Given the description of an element on the screen output the (x, y) to click on. 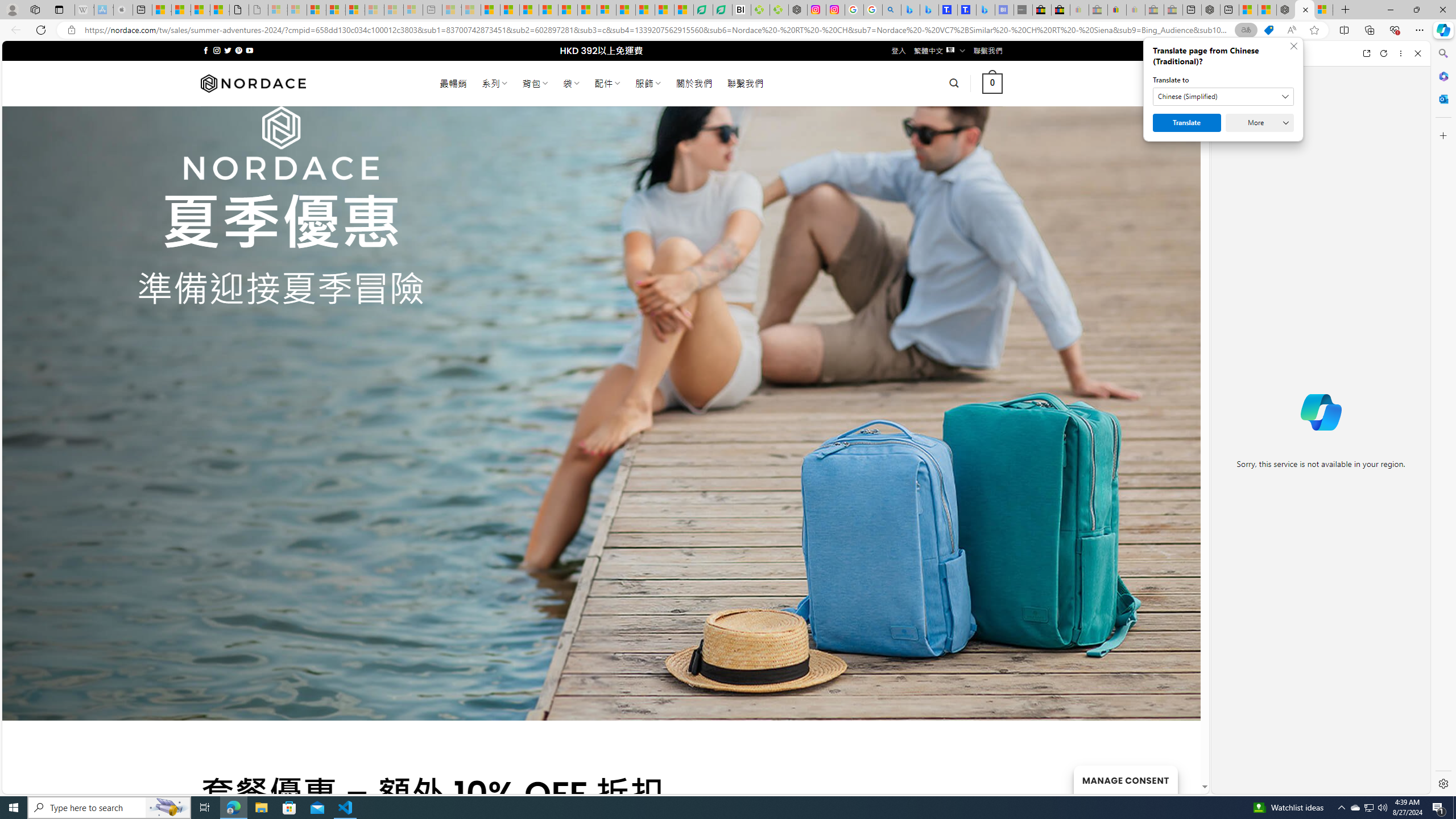
 0  (992, 83)
Foo BAR | Trusted Community Engagement and Contributions (586, 9)
Follow on YouTube (249, 50)
